Given the description of an element on the screen output the (x, y) to click on. 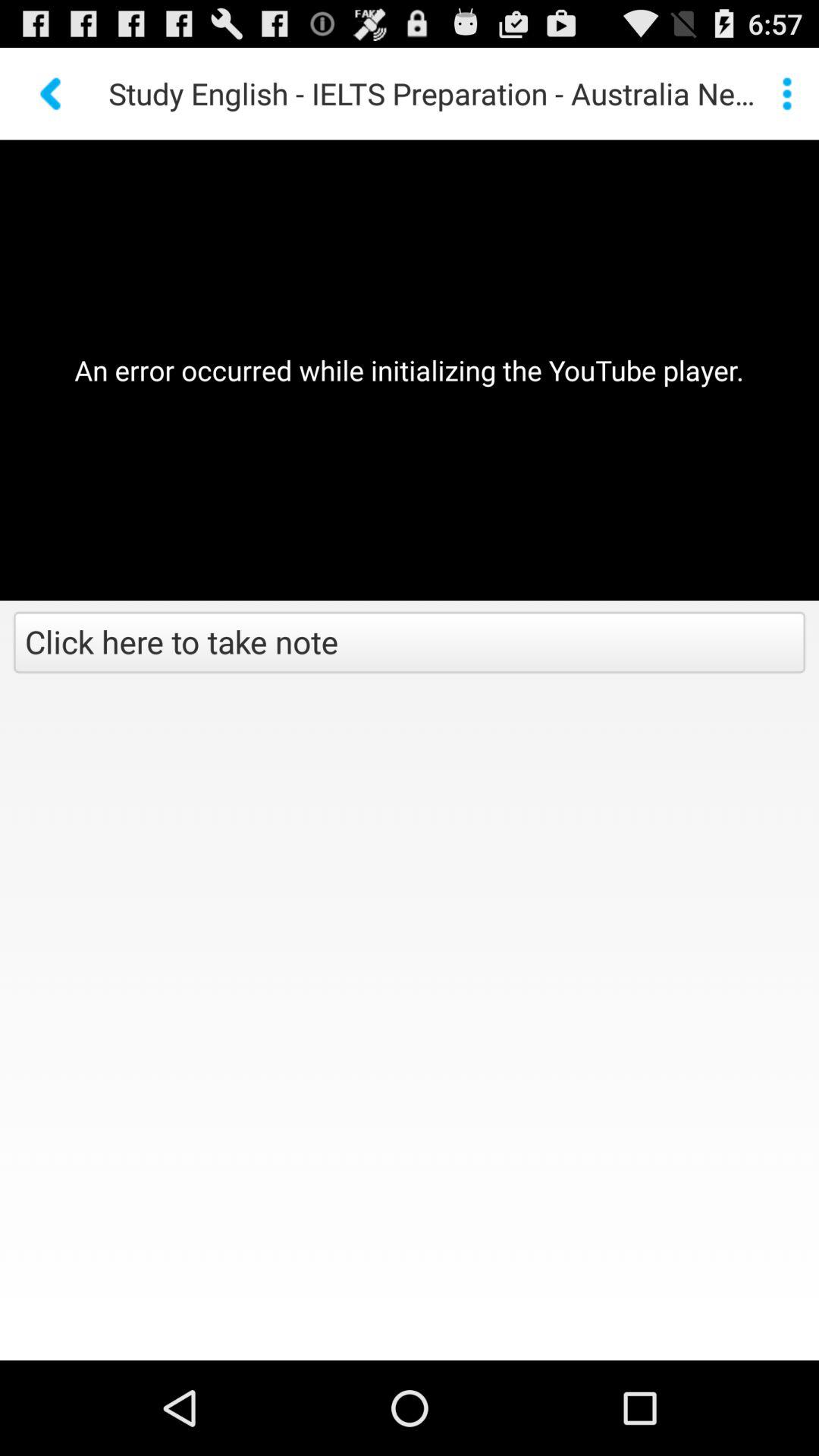
view more options (787, 93)
